Given the description of an element on the screen output the (x, y) to click on. 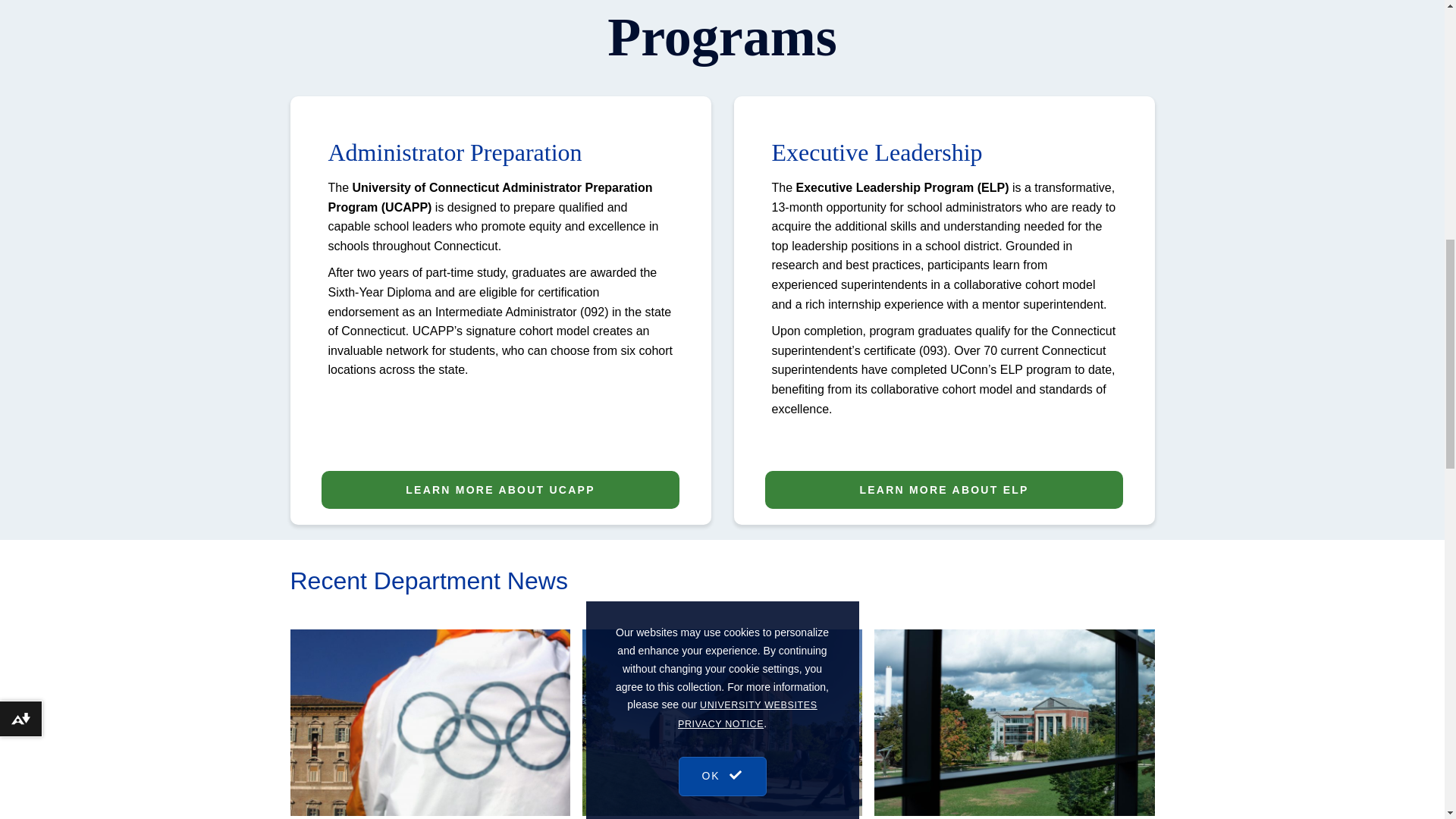
UNIVERSITY WEBSITES PRIVACY NOTICE (747, 57)
OK (721, 110)
